Given the description of an element on the screen output the (x, y) to click on. 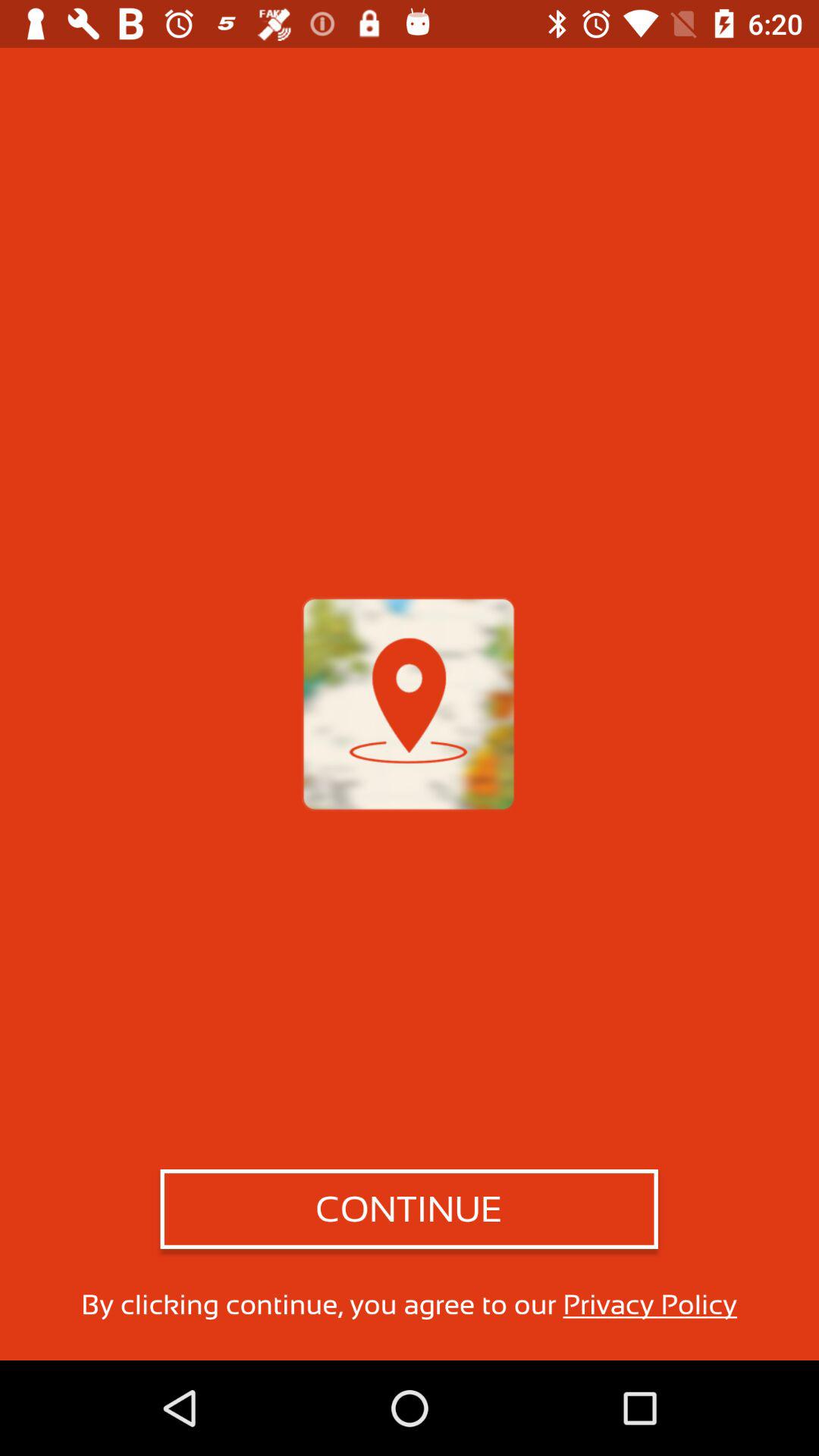
choose the by clicking continue item (409, 1304)
